Given the description of an element on the screen output the (x, y) to click on. 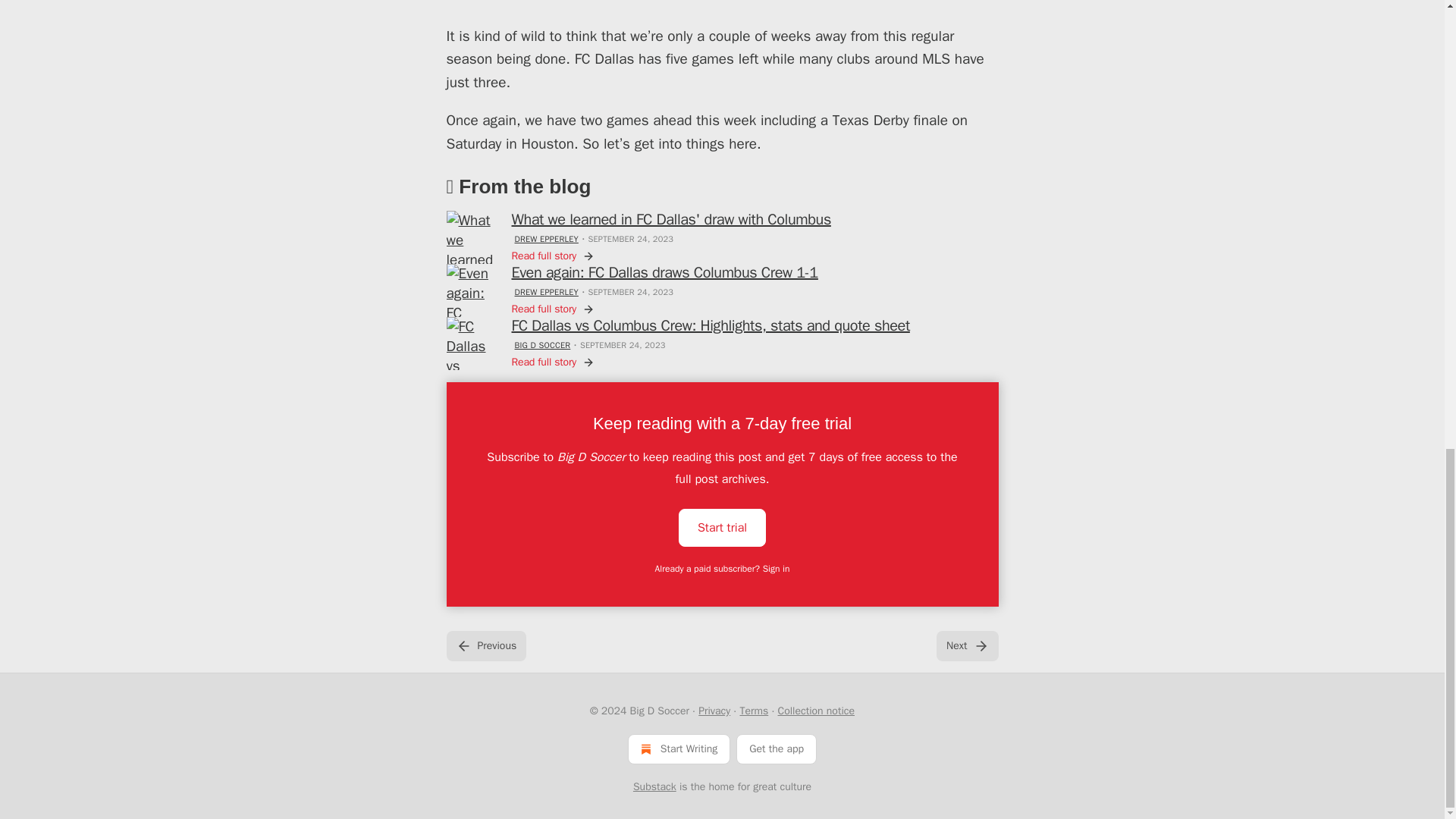
What we learned in FC Dallas' draw with Columbus (670, 219)
Even again: FC Dallas draws Columbus Crew 1-1 (663, 272)
Read full story (552, 255)
Read full story (552, 309)
DREW EPPERLEY (545, 238)
DREW EPPERLEY (545, 291)
